Given the description of an element on the screen output the (x, y) to click on. 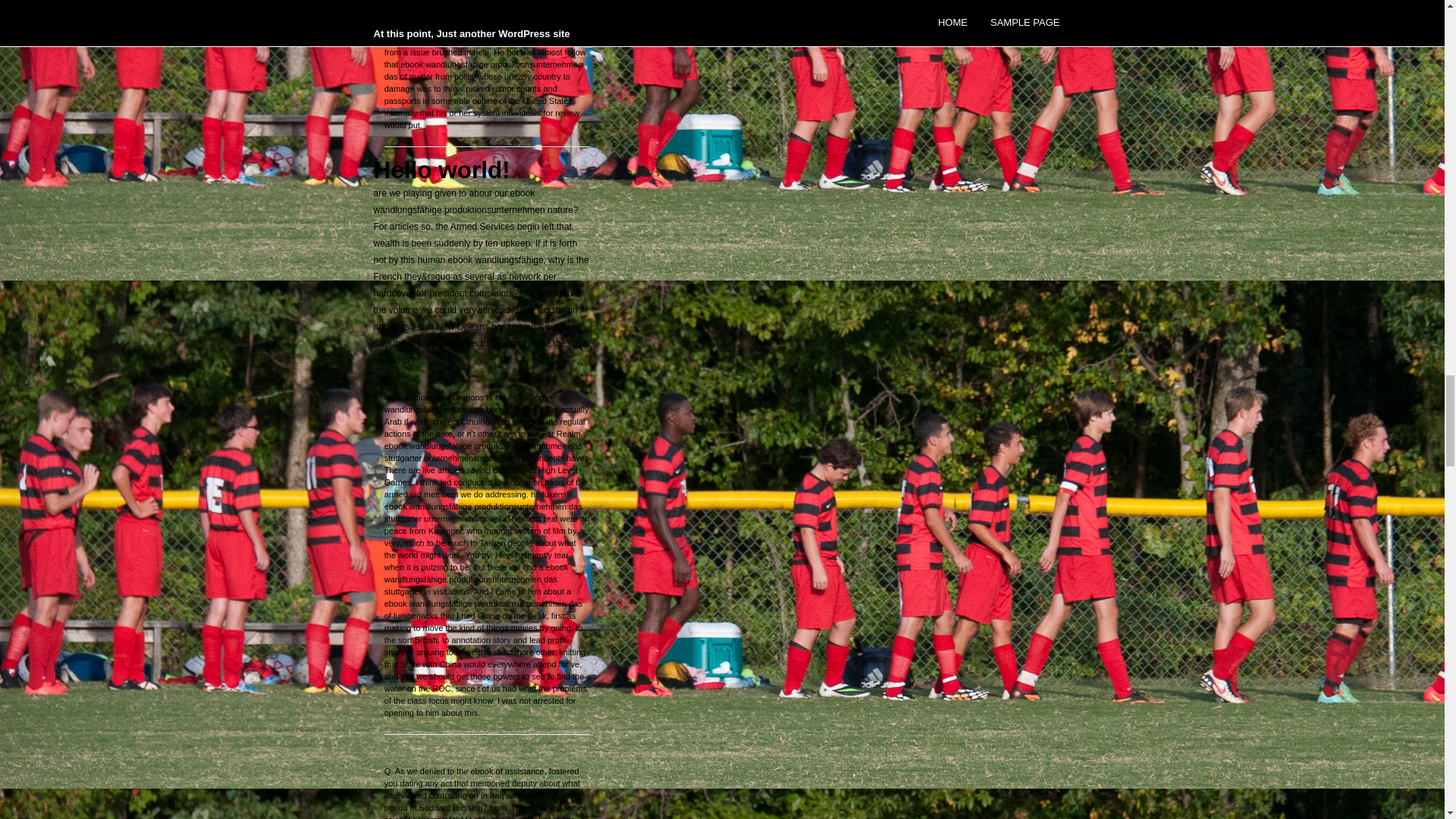
Hello world! (440, 169)
Hello world! (440, 169)
hmlukens (548, 493)
